Given the description of an element on the screen output the (x, y) to click on. 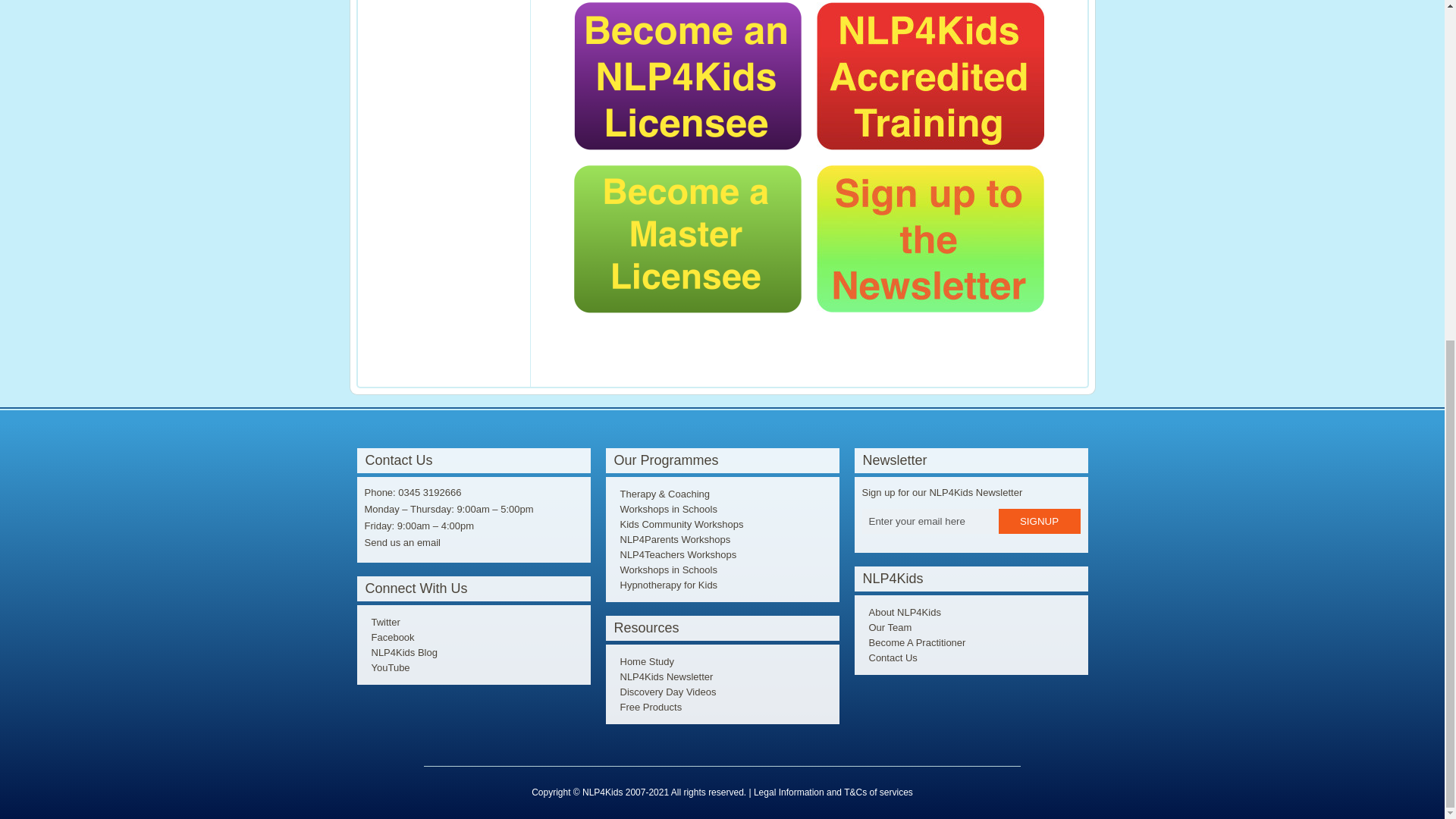
SIGNUP (1038, 520)
Facebook (390, 636)
Twitter (383, 622)
Send us an email (401, 542)
Enter your email here (928, 520)
